Given the description of an element on the screen output the (x, y) to click on. 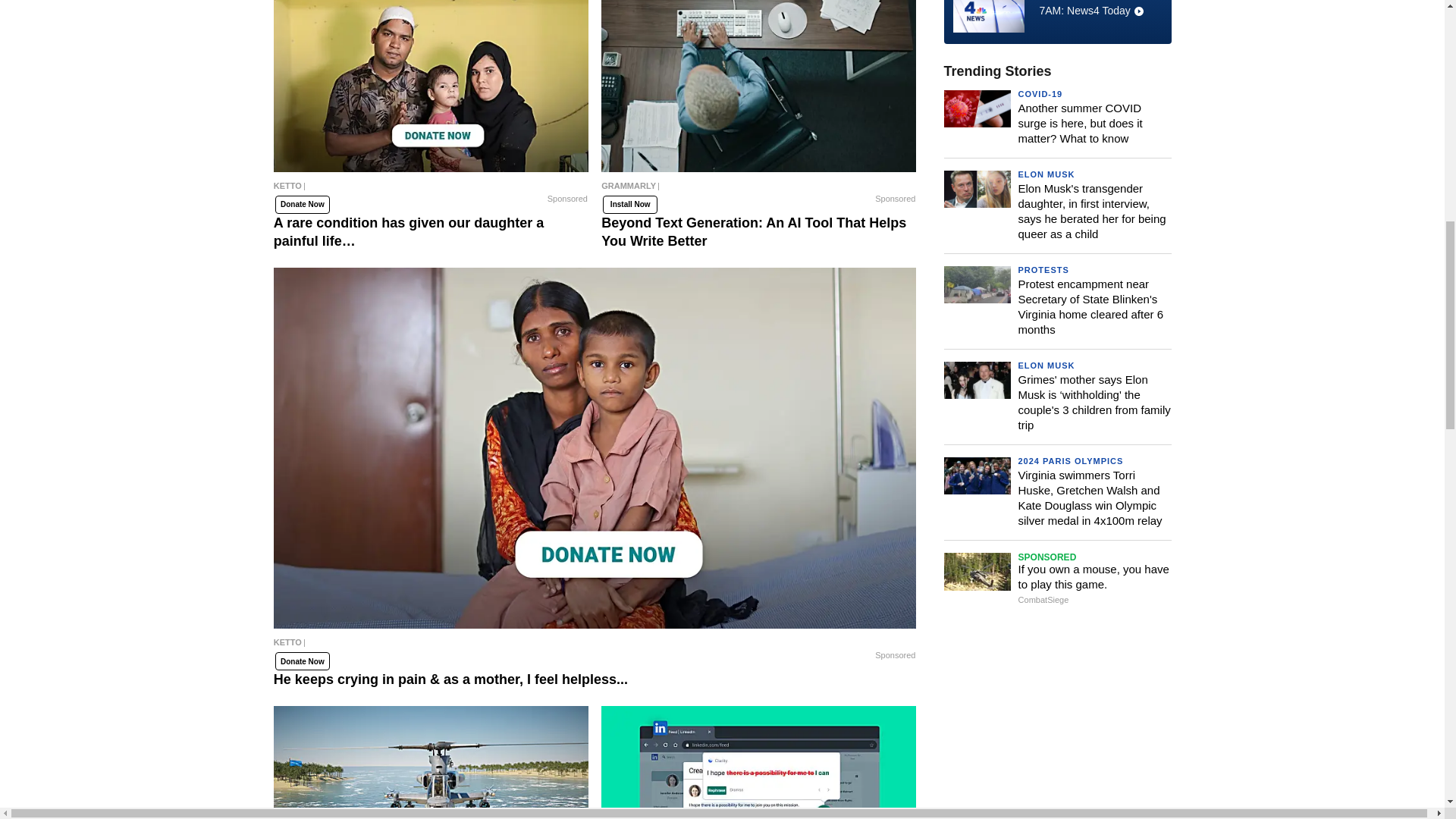
Sponsored (567, 199)
If you own a mouse, play it for 1 minute. (430, 762)
Donate Now (302, 204)
